Given the description of an element on the screen output the (x, y) to click on. 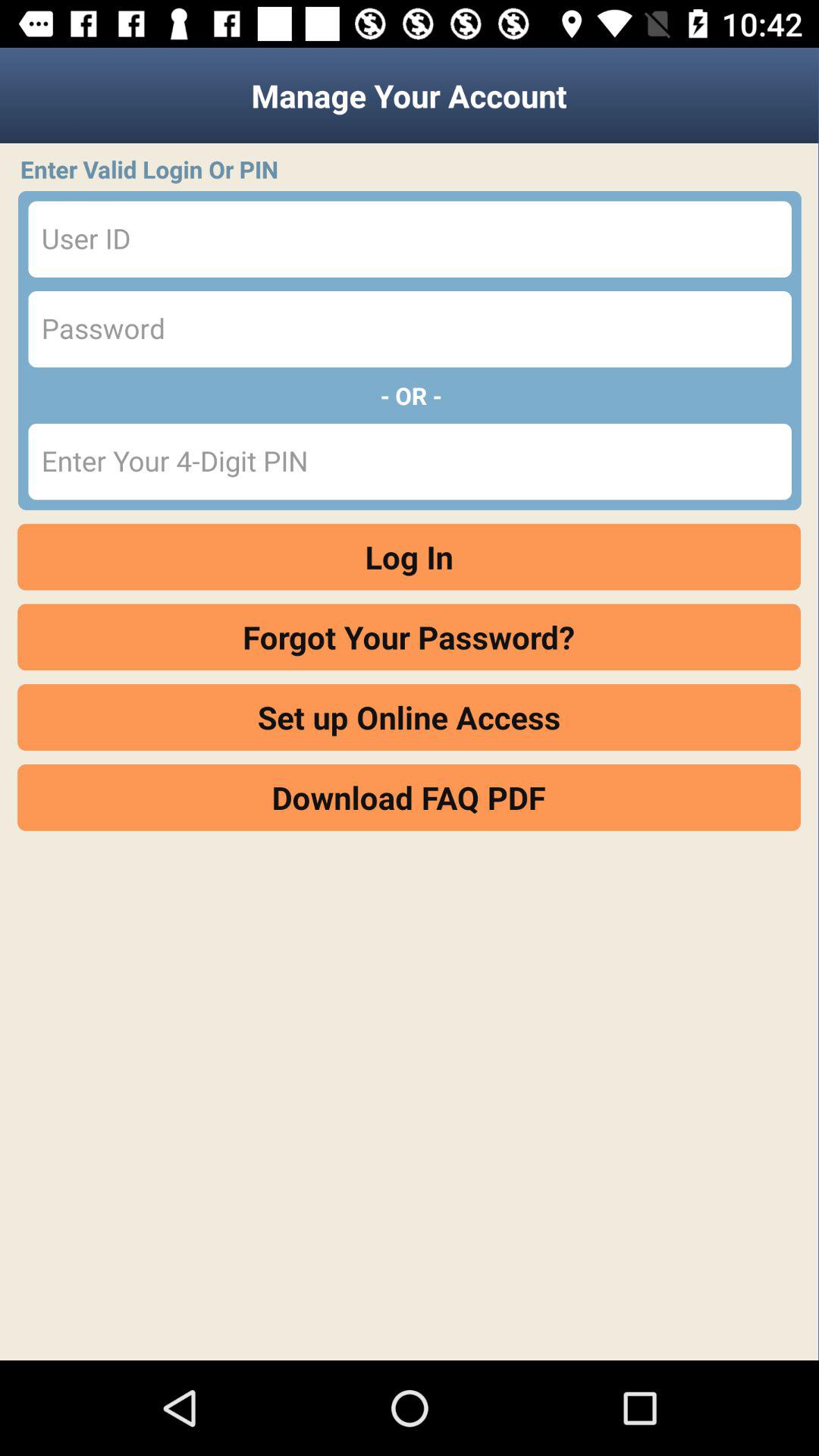
click the icon below set up online (408, 797)
